Given the description of an element on the screen output the (x, y) to click on. 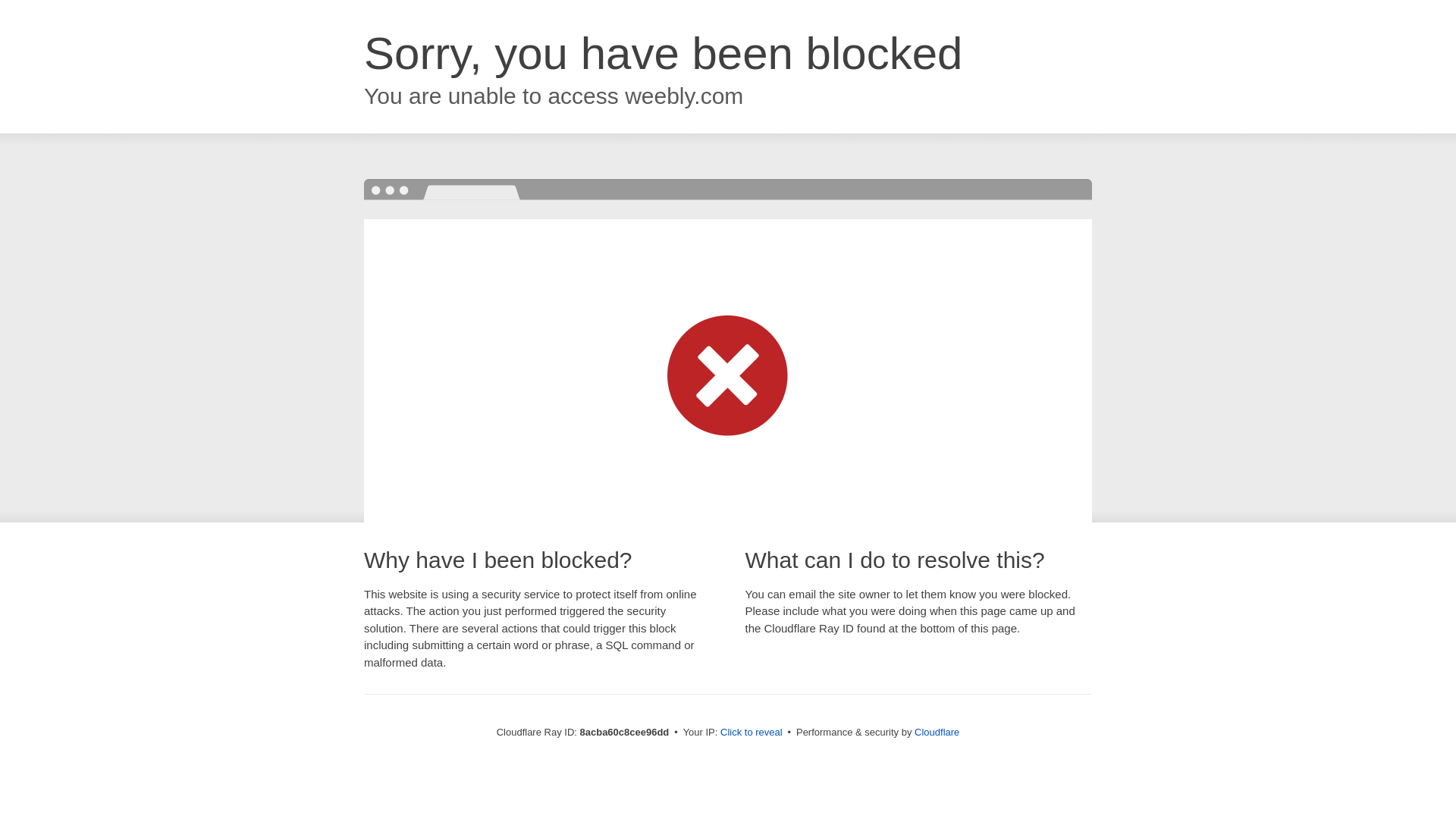
Cloudflare (936, 731)
Click to reveal (751, 732)
